Given the description of an element on the screen output the (x, y) to click on. 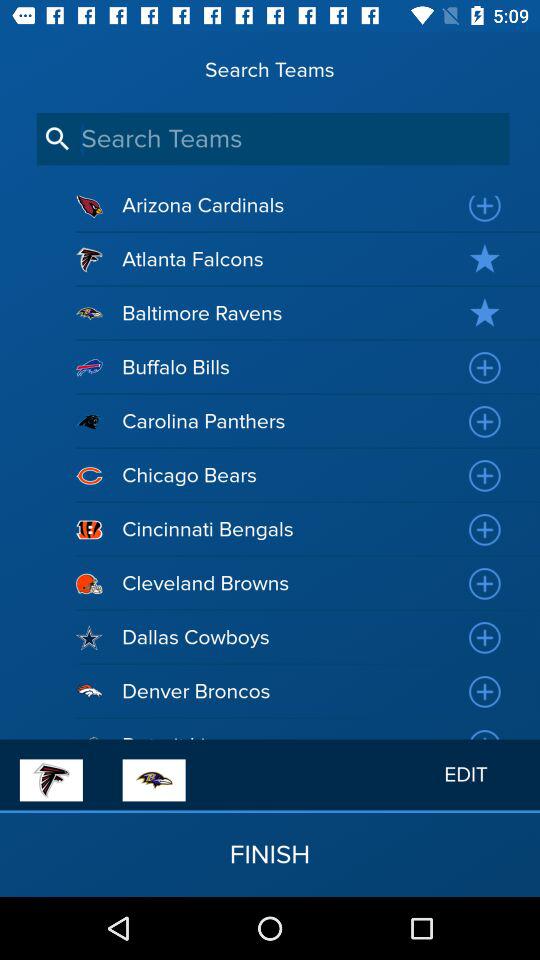
scroll until finish (270, 854)
